Given the description of an element on the screen output the (x, y) to click on. 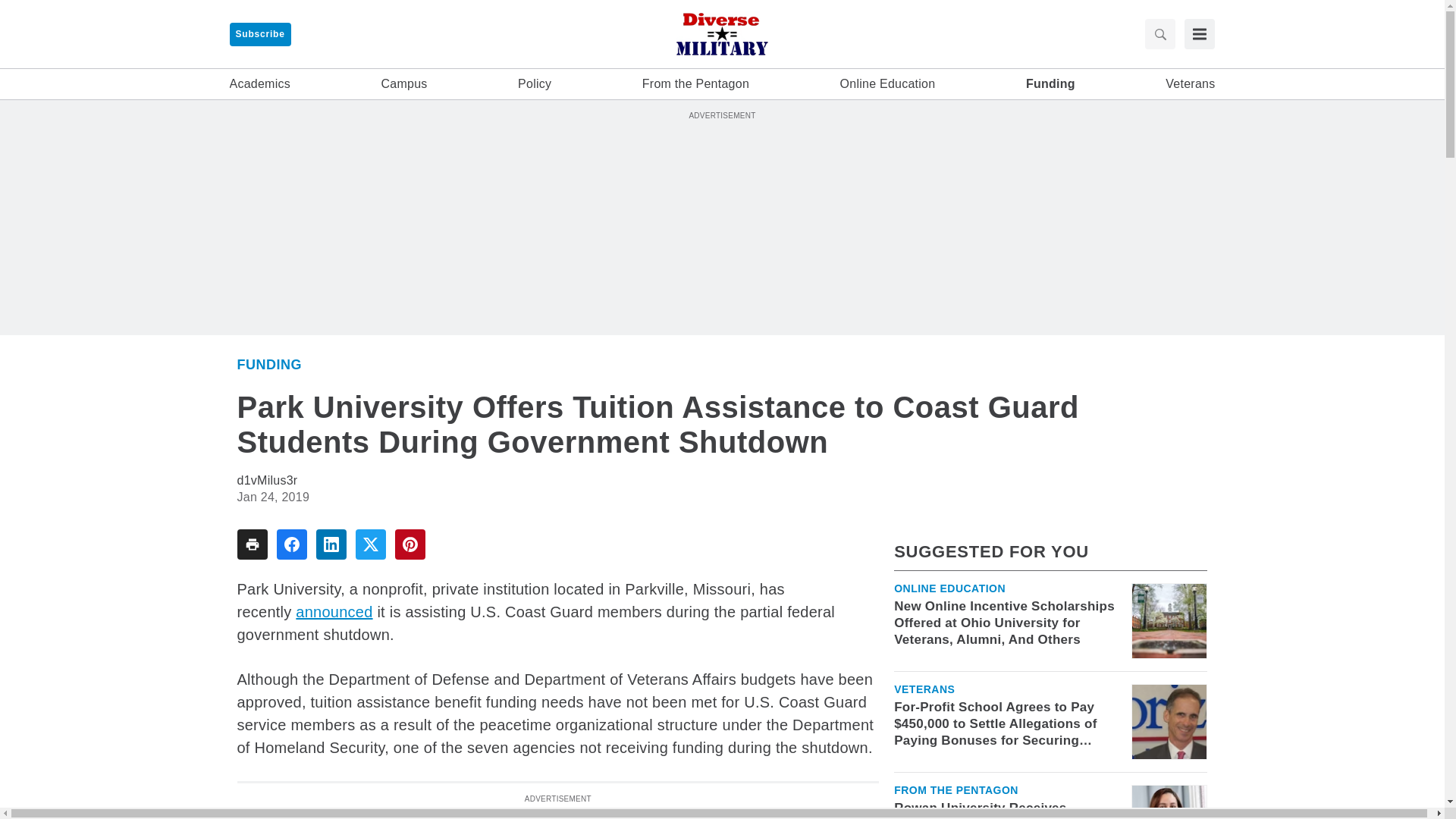
Funding (268, 364)
From the Pentagon (955, 789)
Share To linkedin (330, 544)
Share To pinterest (409, 544)
Policy (534, 84)
Veterans (924, 688)
Campus (404, 84)
Share To facebook (290, 544)
Online Education (888, 84)
Online Education (949, 588)
